Given the description of an element on the screen output the (x, y) to click on. 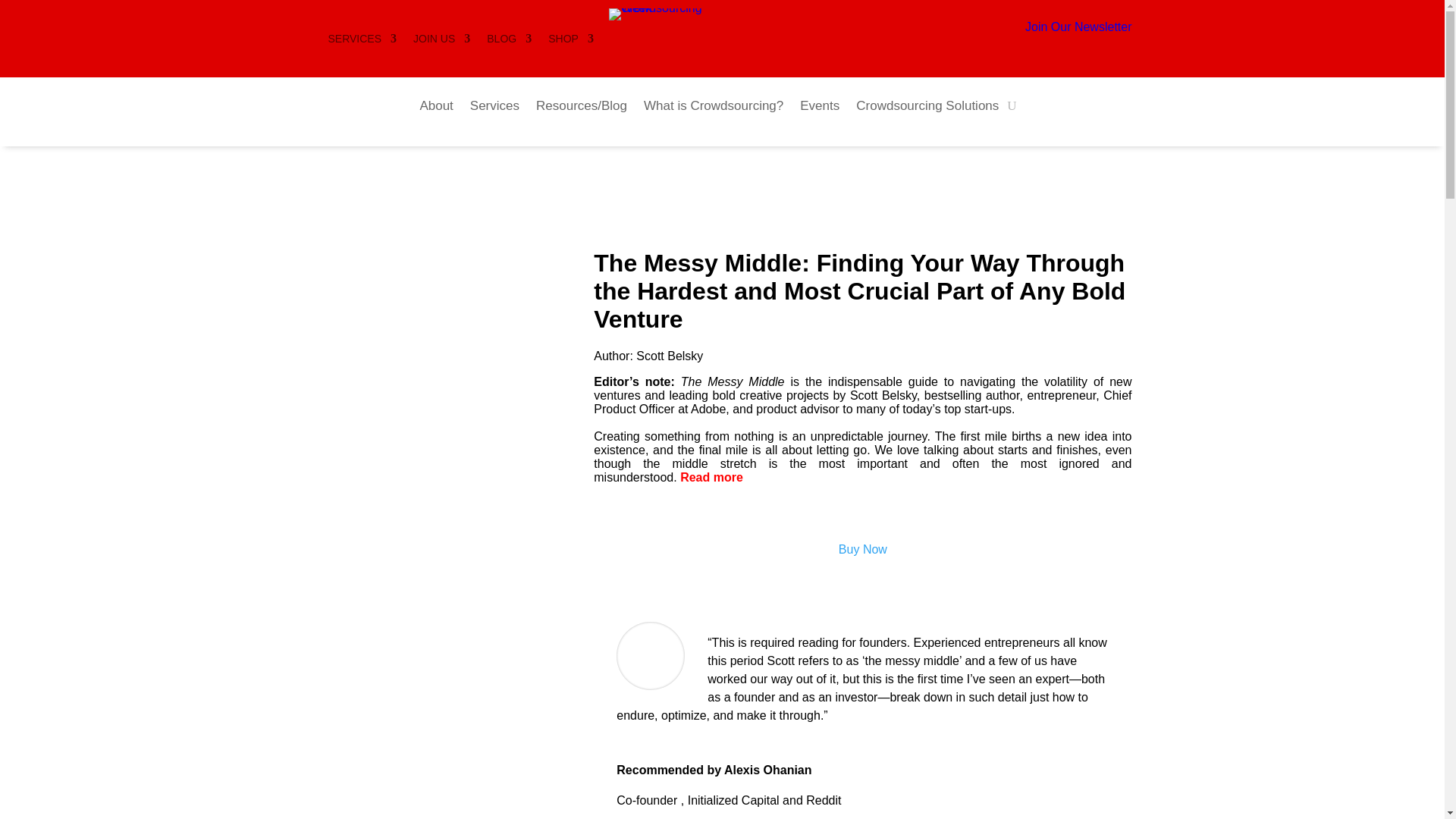
What is Crowdsourcing? (713, 108)
SHOP (571, 41)
Read more (710, 477)
Crowdsourcing Week (669, 14)
Crowdsourcing Solutions (927, 108)
JOIN US (441, 41)
Services (494, 108)
Services (494, 108)
BLOG (508, 41)
Events (819, 108)
Blog (581, 108)
Crowdsourcing Solutions (927, 108)
Join Our Newsletter (1078, 27)
Events (819, 108)
What is Crowdsourcing (713, 108)
